Given the description of an element on the screen output the (x, y) to click on. 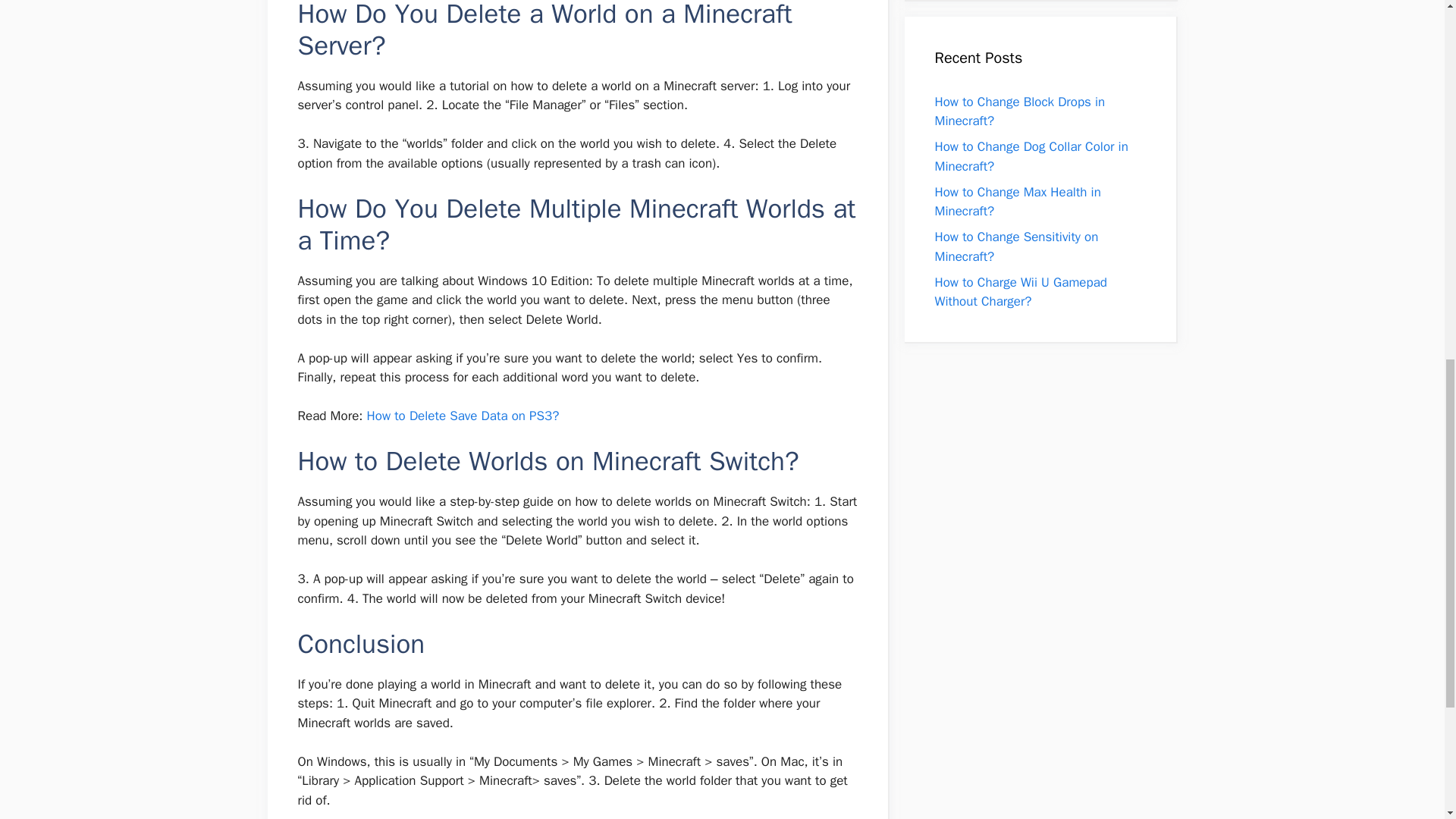
How to Change Sensitivity on Minecraft? (1015, 246)
How to Charge Wii U Gamepad Without Charger? (1020, 292)
How to Change Dog Collar Color in Minecraft? (1030, 156)
How to Delete Save Data on PS3? (462, 415)
How to Change Max Health in Minecraft? (1017, 201)
Scroll back to top (1406, 720)
How to Change Block Drops in Minecraft? (1019, 111)
